Given the description of an element on the screen output the (x, y) to click on. 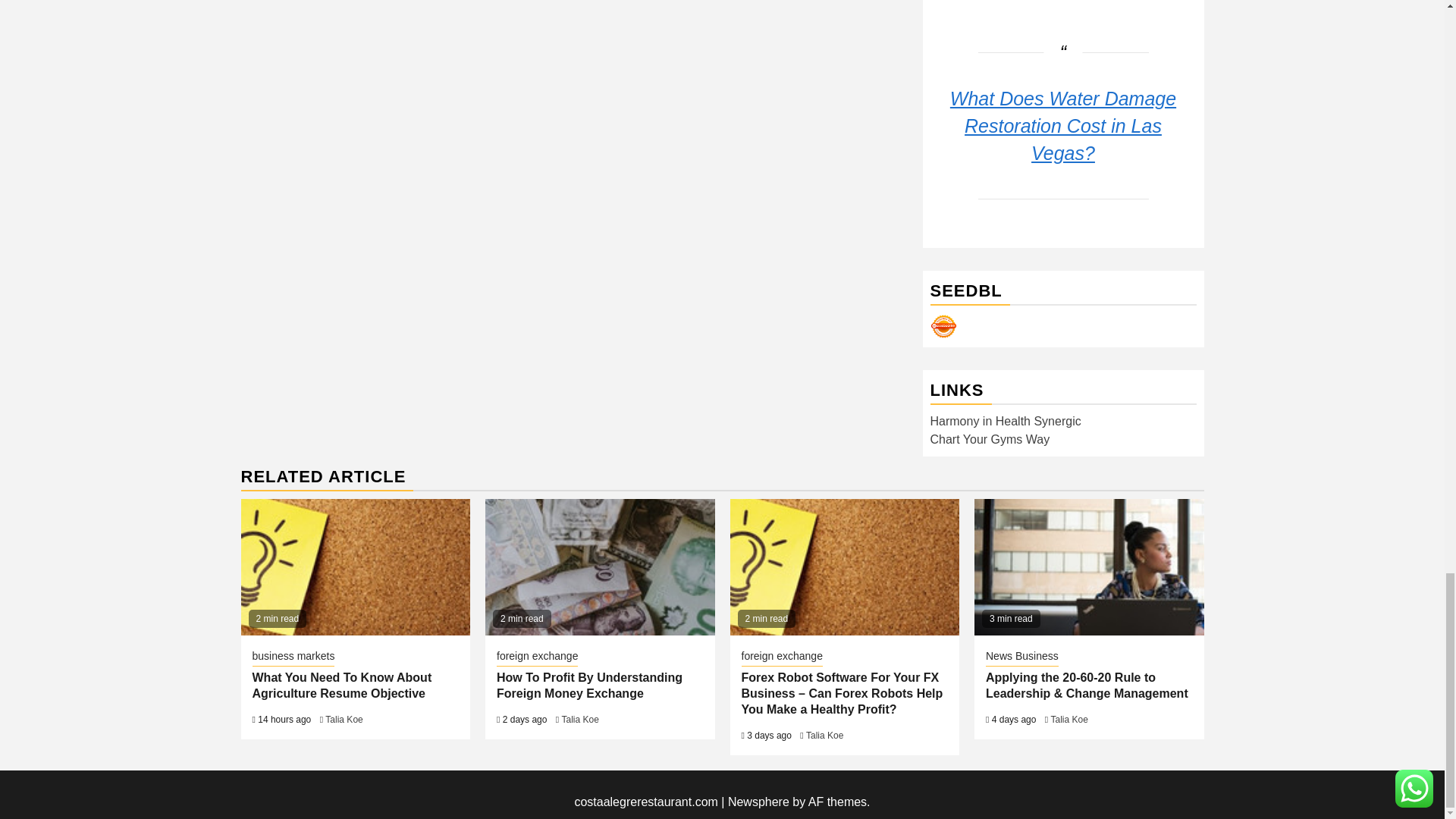
What You Need To Know About Agriculture Resume Objective (355, 566)
How To Profit By Understanding Foreign Money Exchange (599, 566)
Seedbacklink (943, 325)
